Given the description of an element on the screen output the (x, y) to click on. 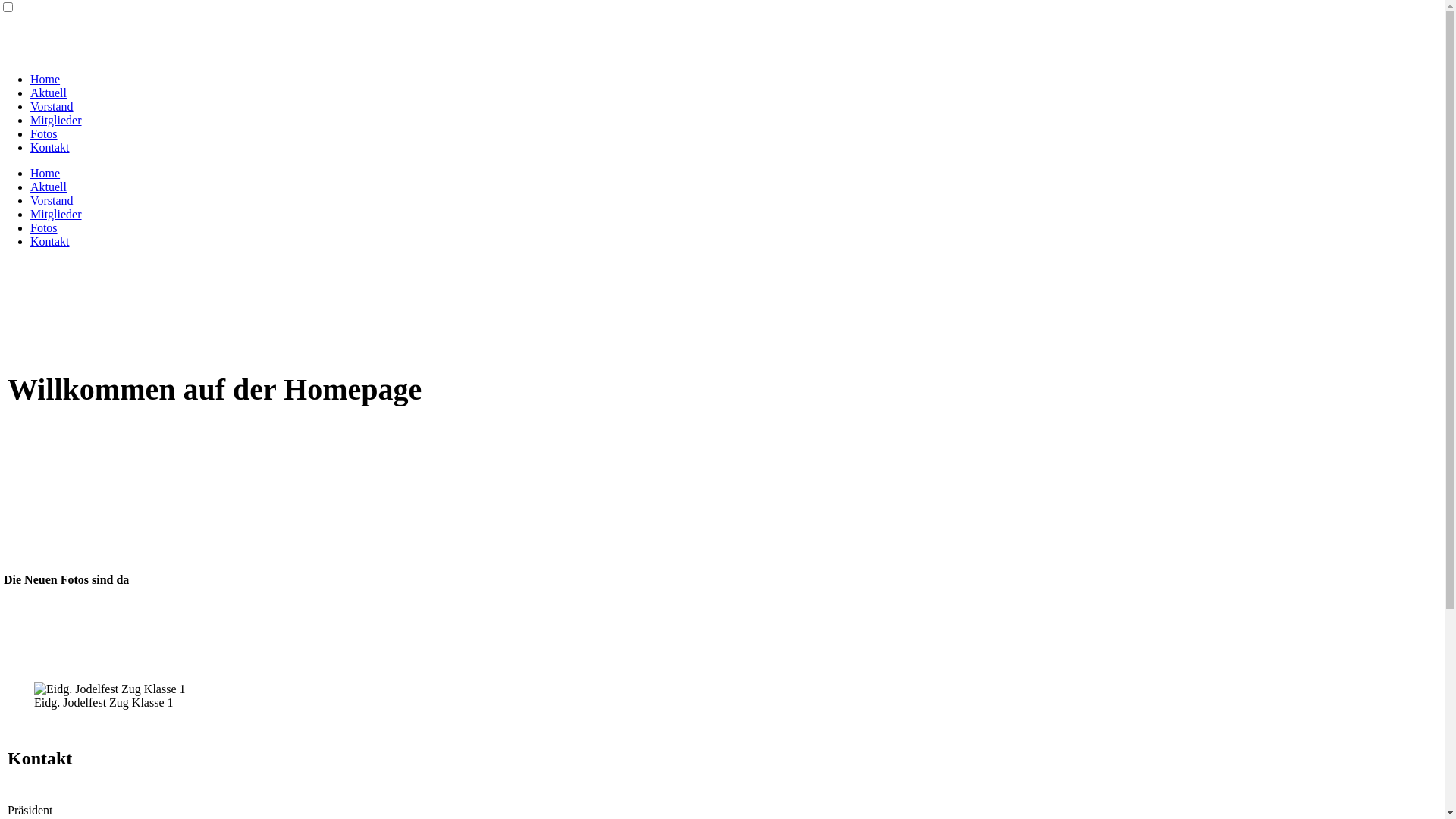
Mitglieder Element type: text (55, 119)
Mitglieder Element type: text (55, 213)
Vorstand Element type: text (51, 200)
Kontakt Element type: text (49, 241)
Aktuell Element type: text (48, 186)
Home Element type: text (44, 78)
Fotos Element type: text (43, 227)
Home Element type: text (44, 172)
Kontakt Element type: text (49, 147)
Fotos Element type: text (43, 133)
Aktuell Element type: text (48, 92)
Vorstand Element type: text (51, 106)
